Given the description of an element on the screen output the (x, y) to click on. 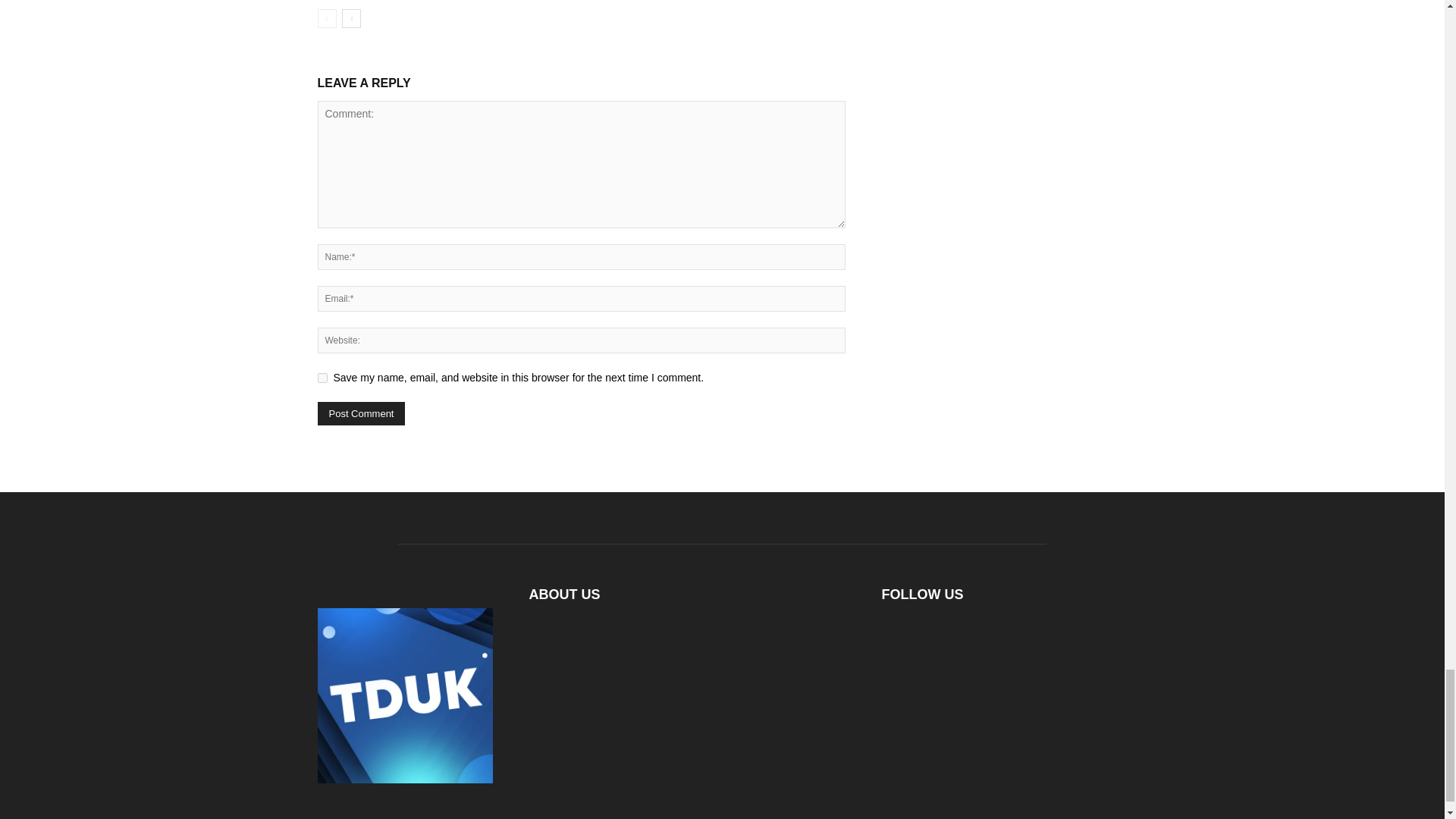
yes (321, 378)
Post Comment (360, 413)
